Given the description of an element on the screen output the (x, y) to click on. 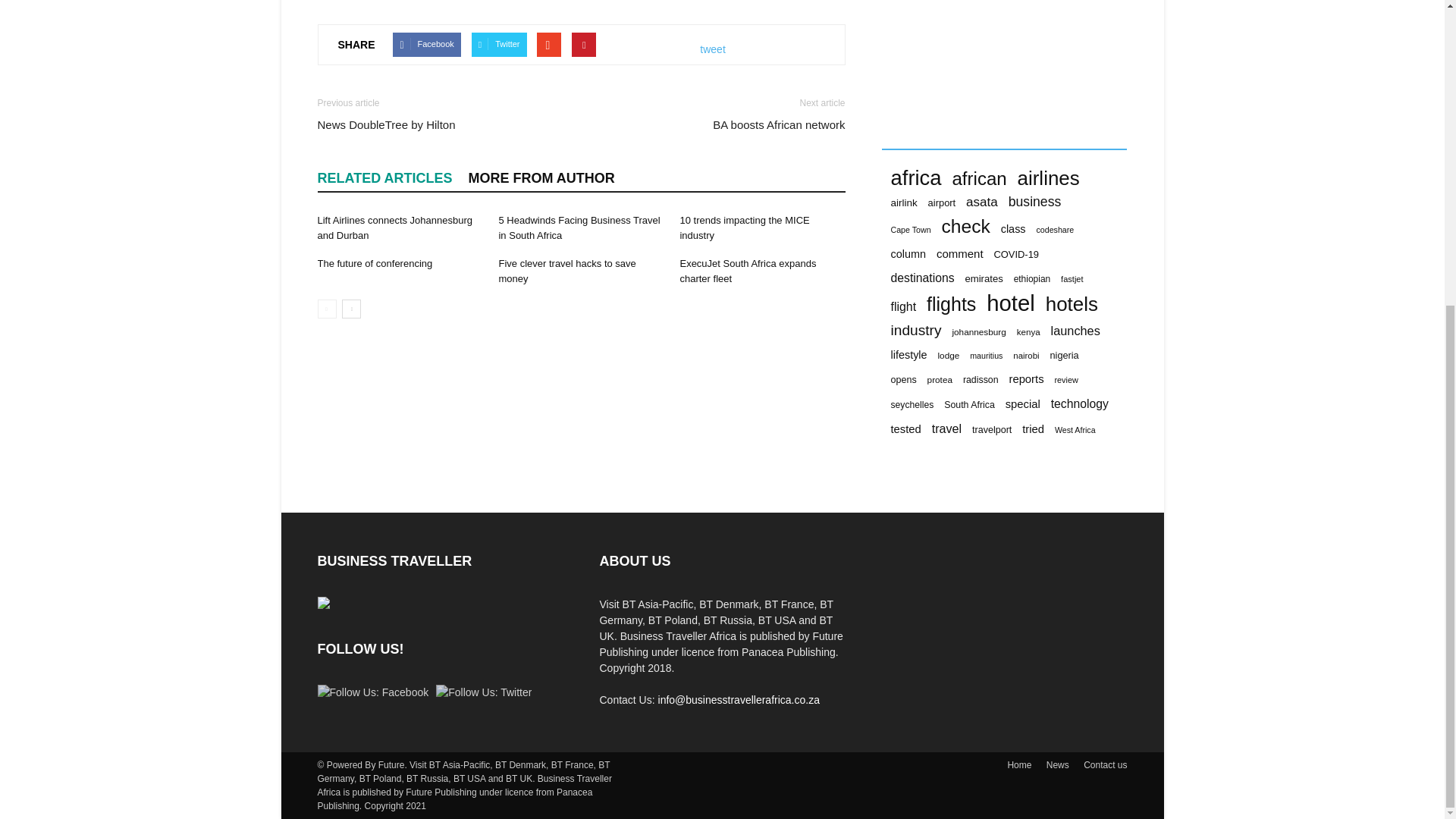
ExecuJet South Africa expands charter fleet (747, 270)
10 trends impacting the MICE industry (744, 227)
5 Headwinds Facing Business Travel in South Africa (578, 227)
The future of conferencing (374, 263)
Follow Us: Facebook (372, 692)
Five clever travel hacks to save money (565, 270)
Lift Airlines connects Johannesburg and Durban (394, 227)
